Given the description of an element on the screen output the (x, y) to click on. 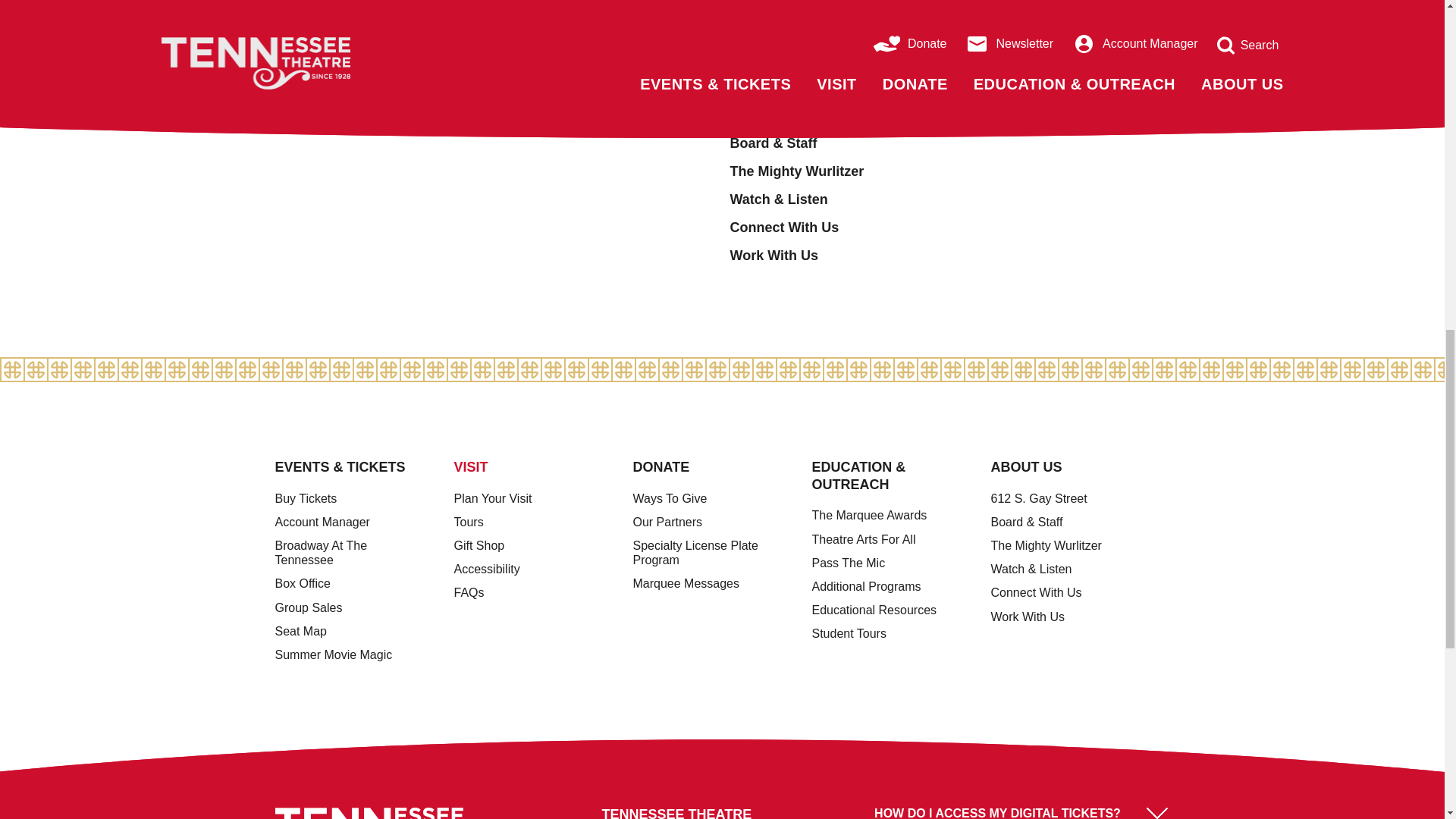
Tennessee Theatre (369, 813)
